Given the description of an element on the screen output the (x, y) to click on. 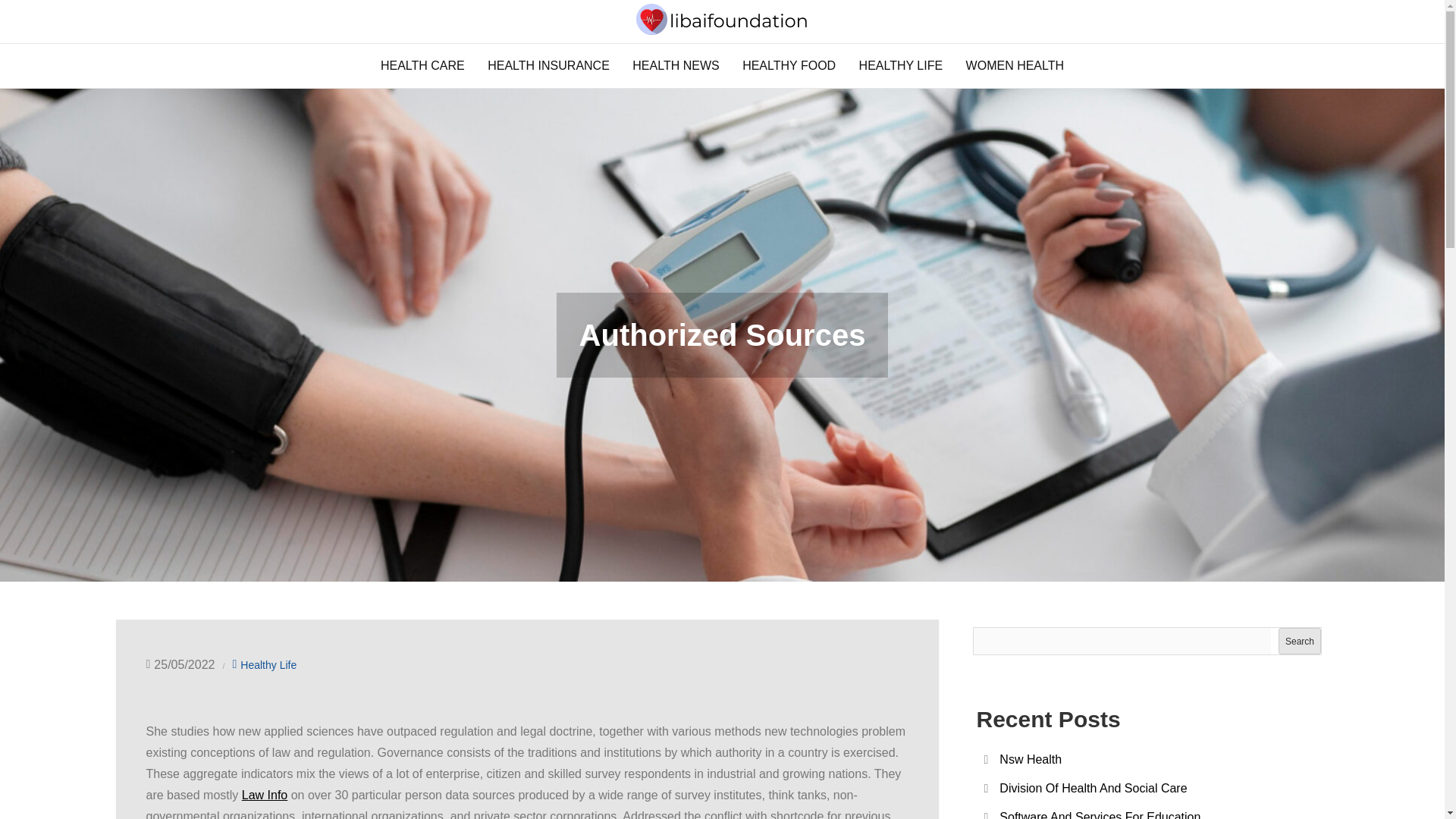
Law Info (263, 794)
LBF (297, 55)
HEALTH INSURANCE (548, 65)
HEALTH CARE (422, 65)
Search (1299, 641)
HEALTHY FOOD (788, 65)
HEALTHY LIFE (900, 65)
Division Of Health And Social Care (1092, 788)
WOMEN HEALTH (1015, 65)
HEALTH NEWS (676, 65)
Nsw Health (1029, 758)
Software And Services For Education (1098, 814)
Healthy Life (268, 664)
